Given the description of an element on the screen output the (x, y) to click on. 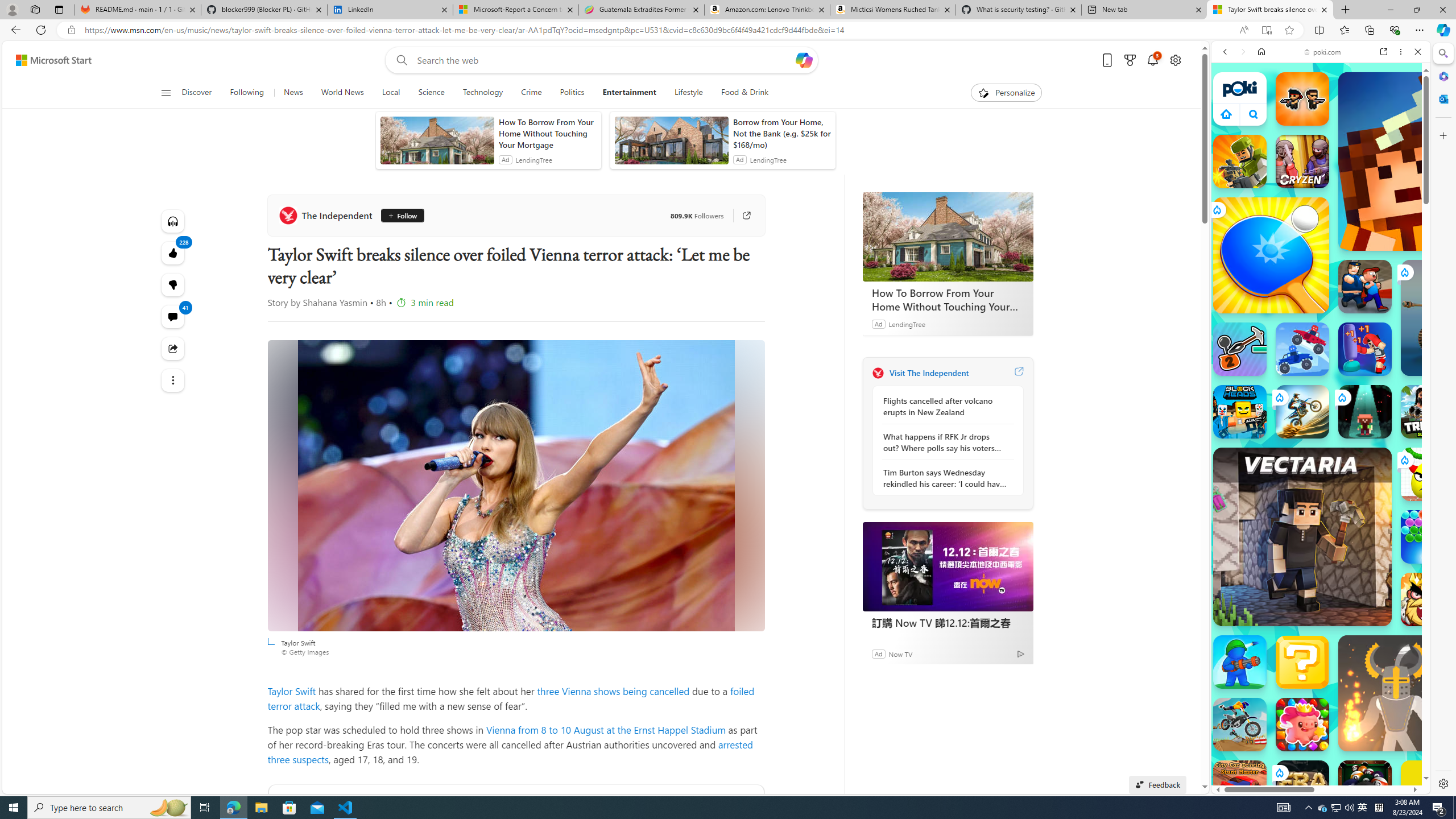
Draw To Smash: Logic Puzzle (1427, 474)
Class: rCs5cyEiqiTpYvt_VBCR (1279, 772)
War Master War Master (1239, 661)
Escape From School (1364, 286)
Class: at-item (172, 380)
Hills of Steel (1253, 574)
Combat Reloaded (1349, 580)
